Given the description of an element on the screen output the (x, y) to click on. 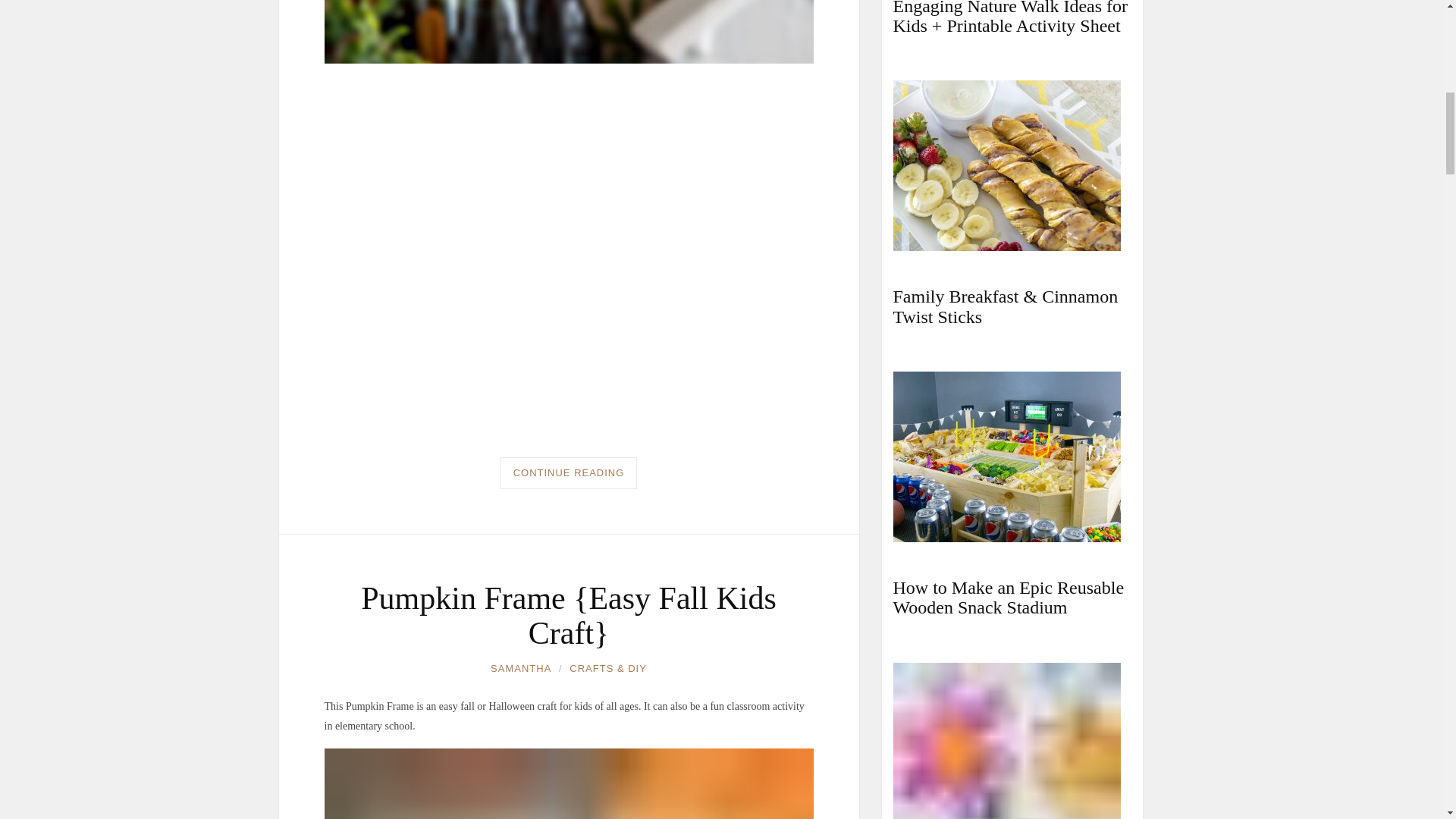
Posts by Samantha (520, 669)
SAMANTHA (520, 669)
CONTINUE READING (568, 472)
